Given the description of an element on the screen output the (x, y) to click on. 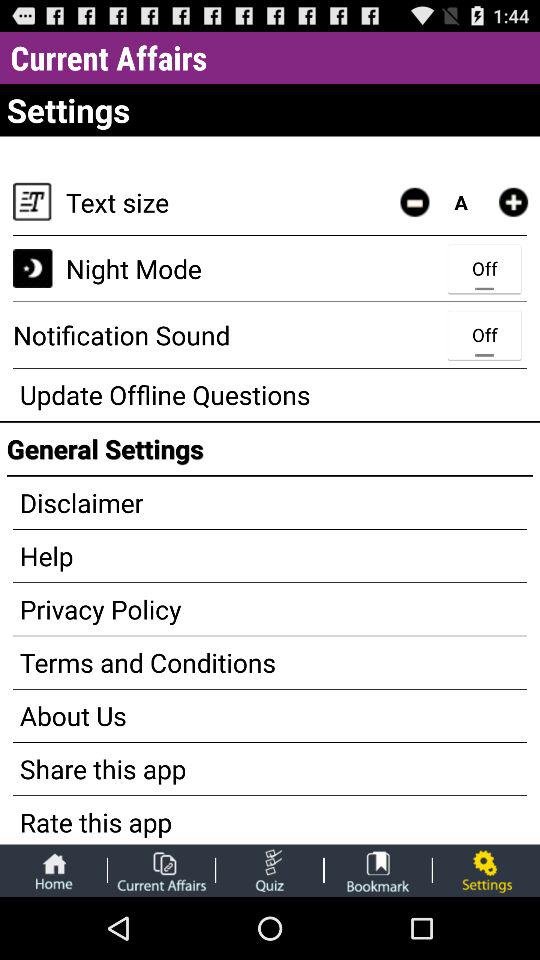
go to home page (53, 870)
